Given the description of an element on the screen output the (x, y) to click on. 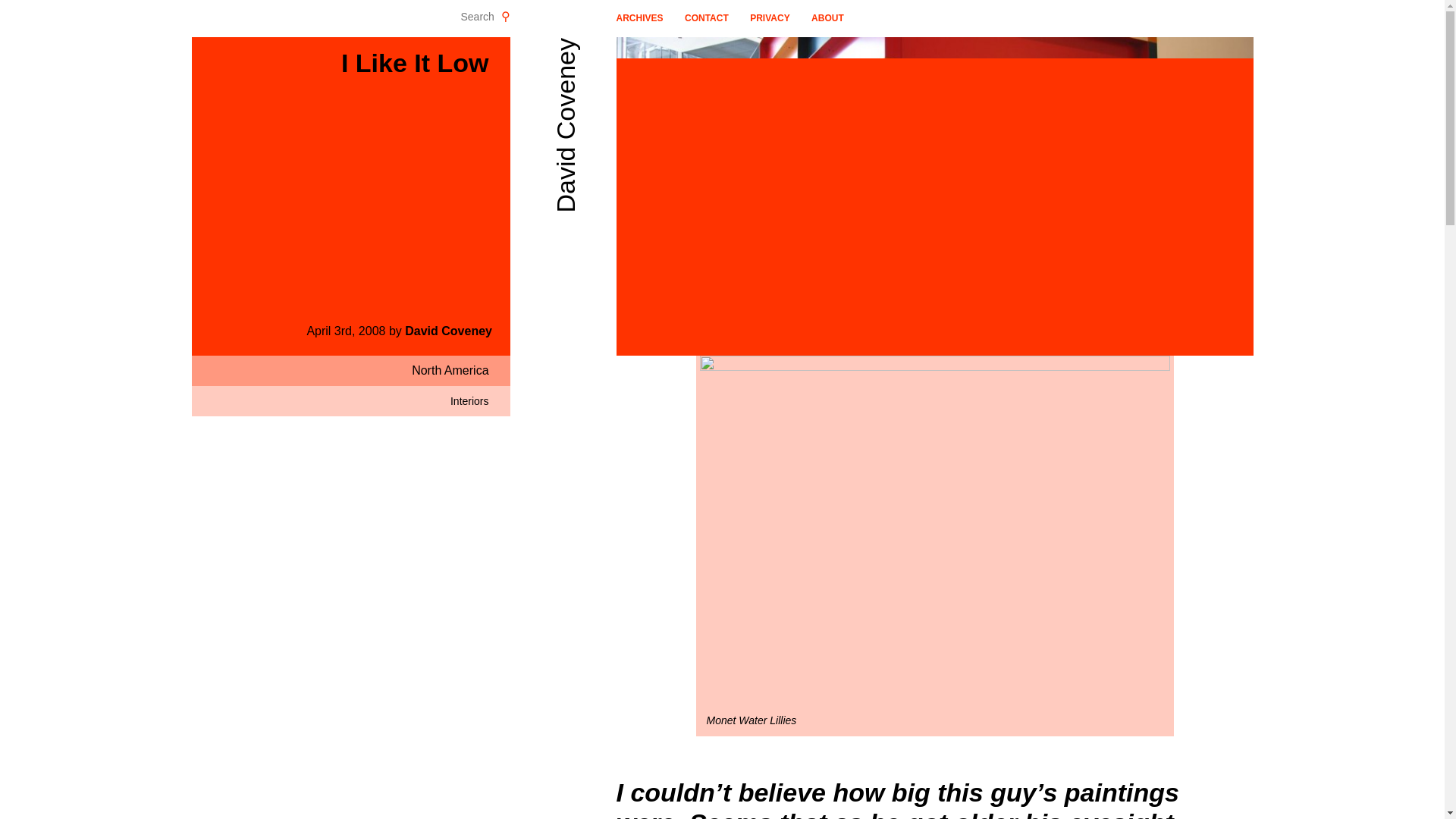
ARCHIVES (638, 18)
David Coveney (448, 330)
ABOUT (827, 18)
PRIVACY (769, 18)
CONTACT (706, 18)
Interiors (469, 400)
Posts written by David Coveney (448, 330)
David Coveney (779, 50)
North America (449, 369)
